Given the description of an element on the screen output the (x, y) to click on. 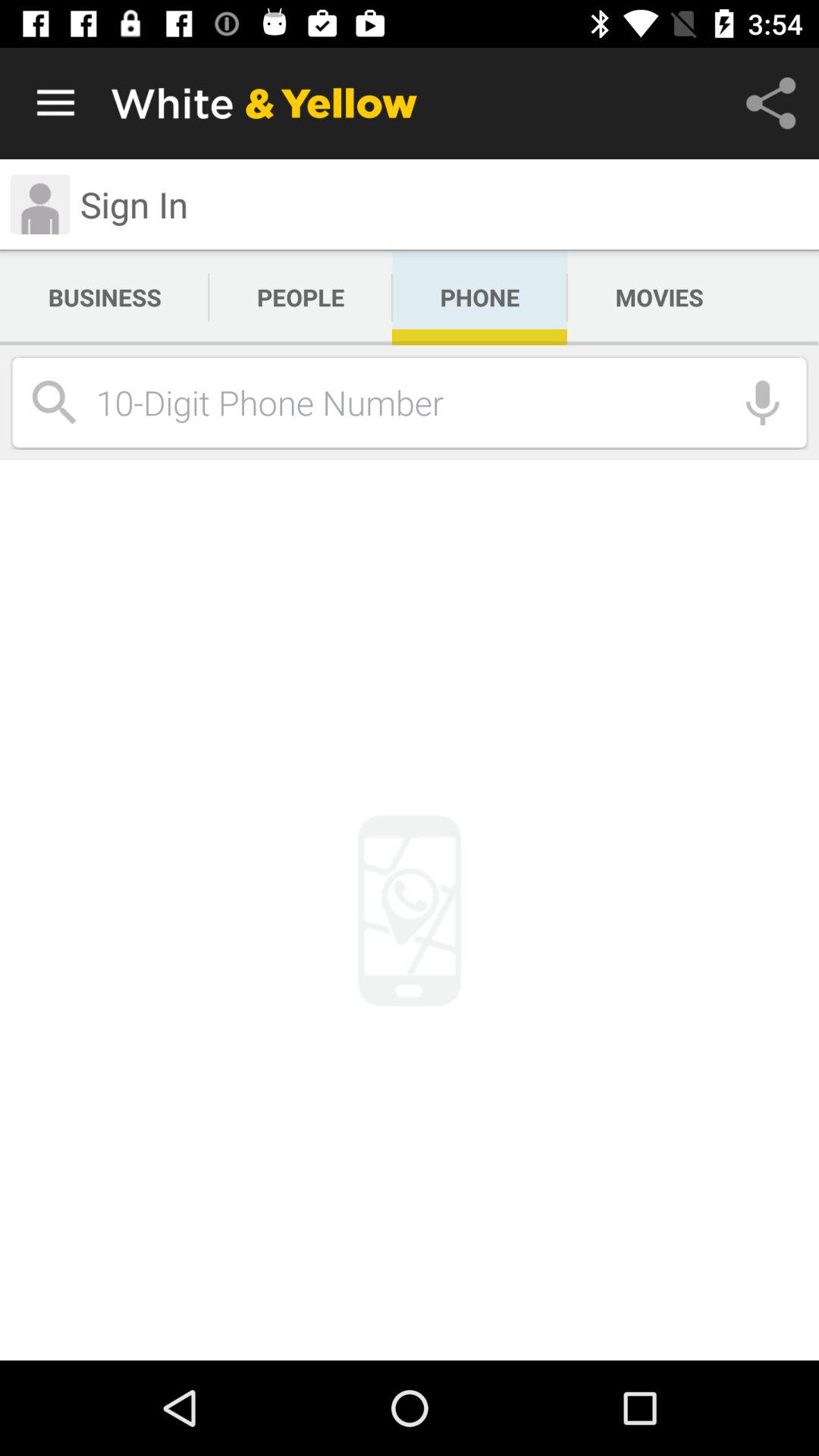
select icon next to sign in item (39, 204)
